Given the description of an element on the screen output the (x, y) to click on. 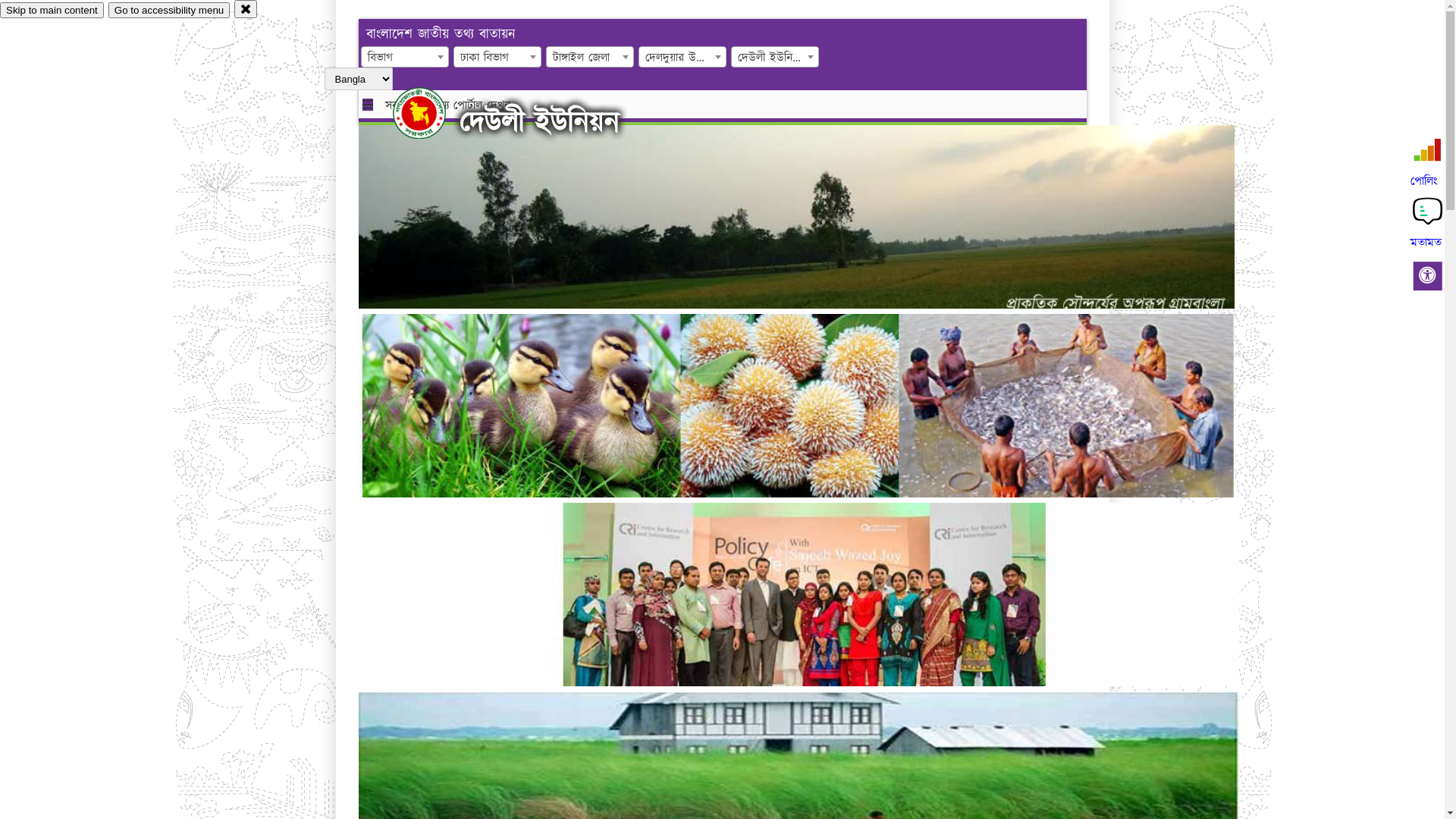
close Element type: hover (245, 9)
Go to accessibility menu Element type: text (168, 10)
Skip to main content Element type: text (51, 10)

                
             Element type: hover (431, 112)
